Given the description of an element on the screen output the (x, y) to click on. 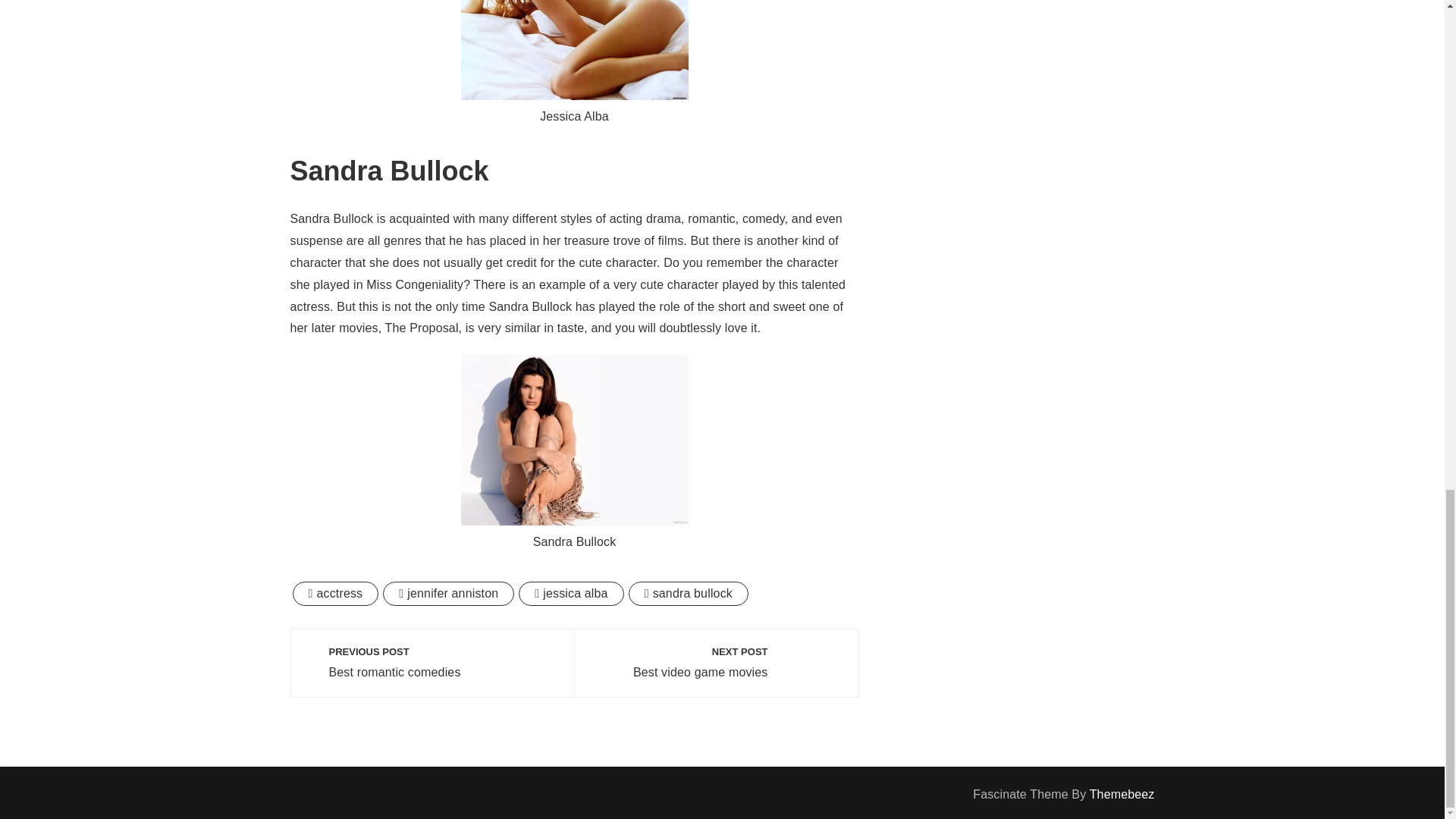
jennifer anniston (447, 593)
Jessica Alba (574, 49)
Sandra Bullock (574, 439)
Themebeez (715, 662)
jessica alba (1121, 793)
sandra bullock (570, 593)
acctress (688, 593)
